Given the description of an element on the screen output the (x, y) to click on. 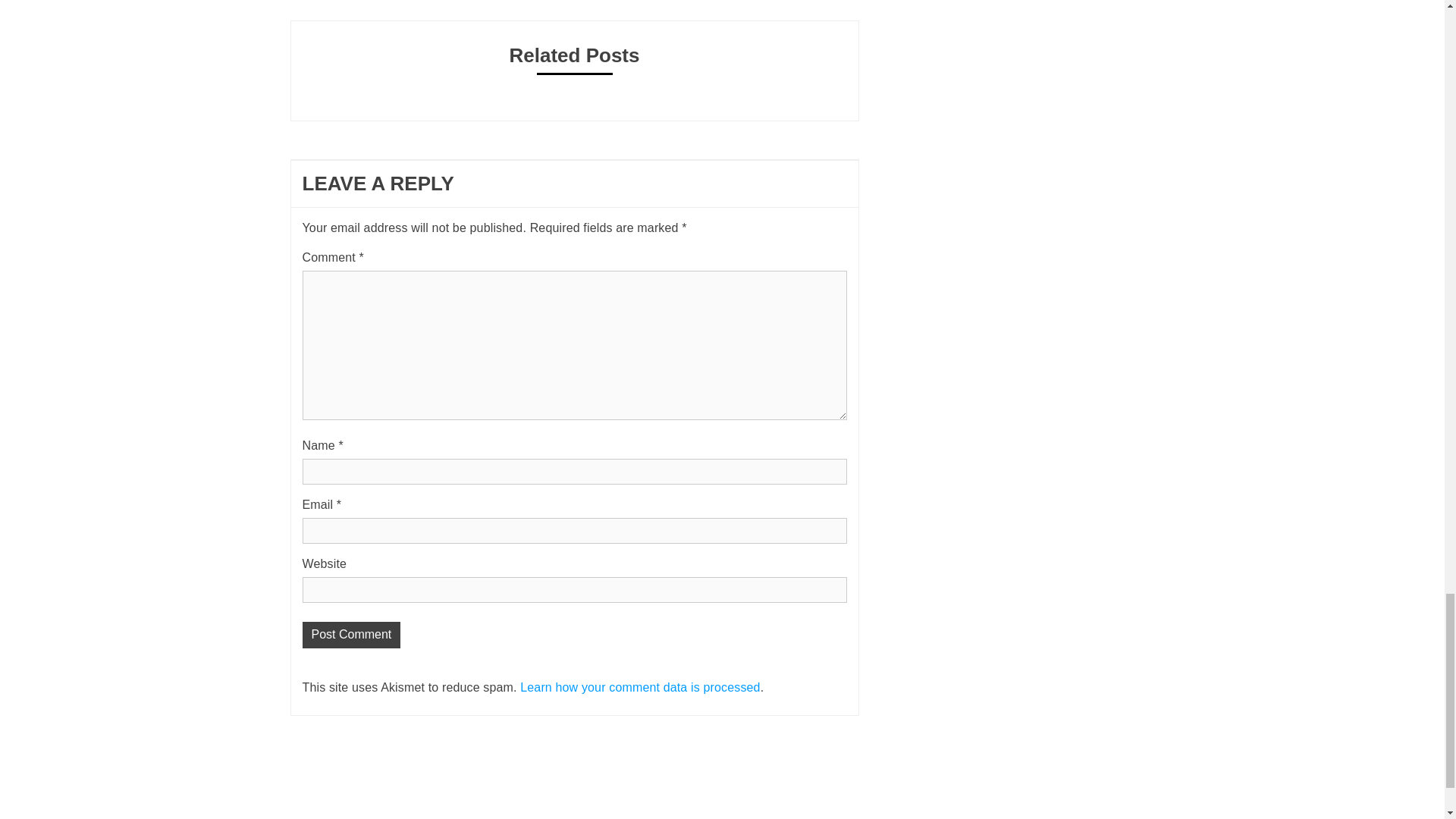
Post Comment (350, 634)
Learn how your comment data is processed (639, 686)
Post Comment (350, 634)
